Given the description of an element on the screen output the (x, y) to click on. 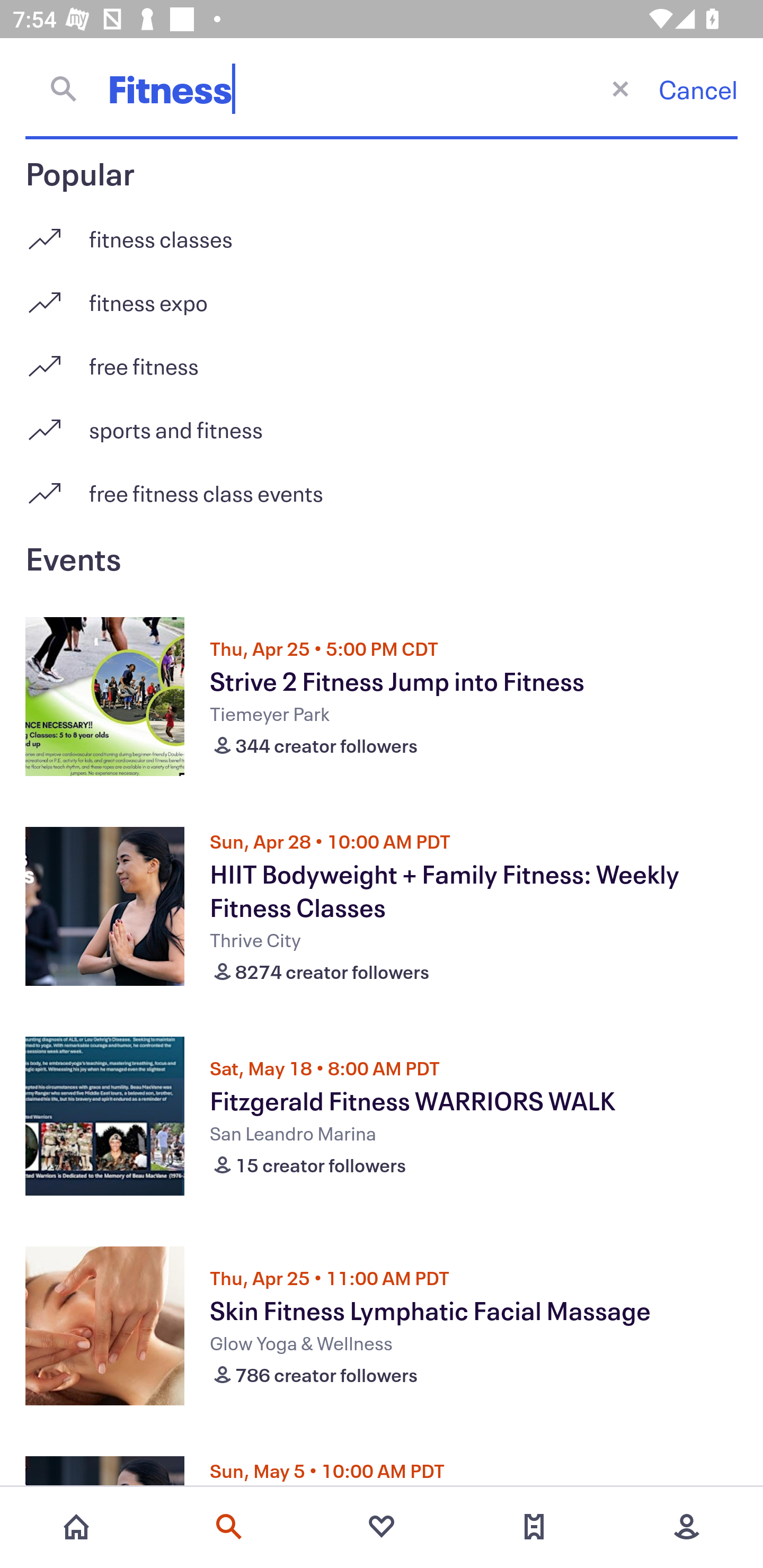
Fitness Close current screen Cancel (381, 88)
Close current screen (620, 88)
Cancel (697, 89)
fitness classes (381, 231)
fitness expo (381, 295)
free fitness (381, 358)
sports and fitness (381, 422)
free fitness class events (381, 492)
Home (76, 1526)
Search events (228, 1526)
Favorites (381, 1526)
Tickets (533, 1526)
More (686, 1526)
